Given the description of an element on the screen output the (x, y) to click on. 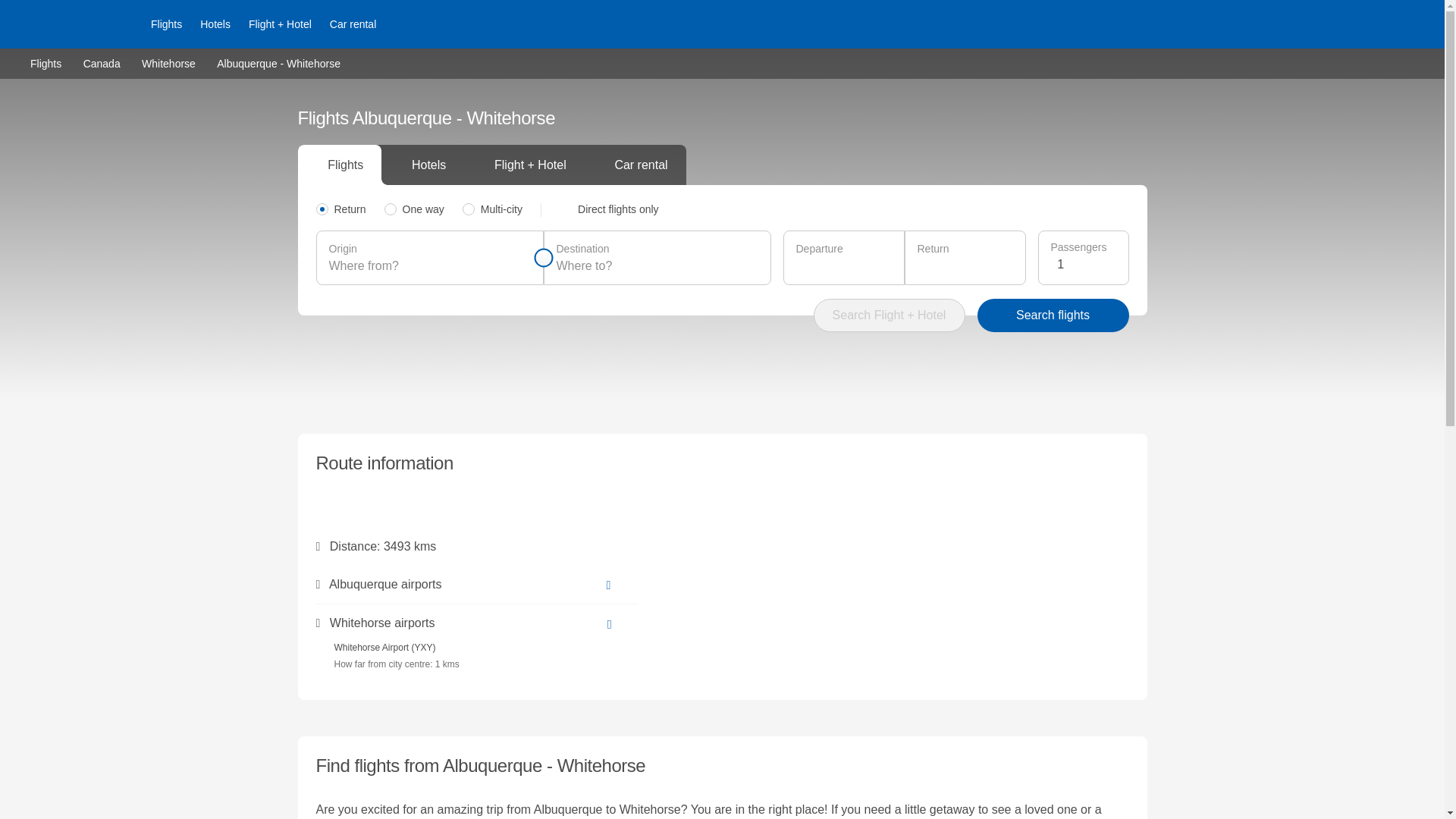
Canada (101, 62)
1 (1086, 263)
Car rental (352, 24)
Flights (165, 24)
Flights (45, 62)
Albuquerque - Whitehorse (278, 63)
Whitehorse (168, 62)
Hotels (215, 24)
Search flights (1052, 315)
